Given the description of an element on the screen output the (x, y) to click on. 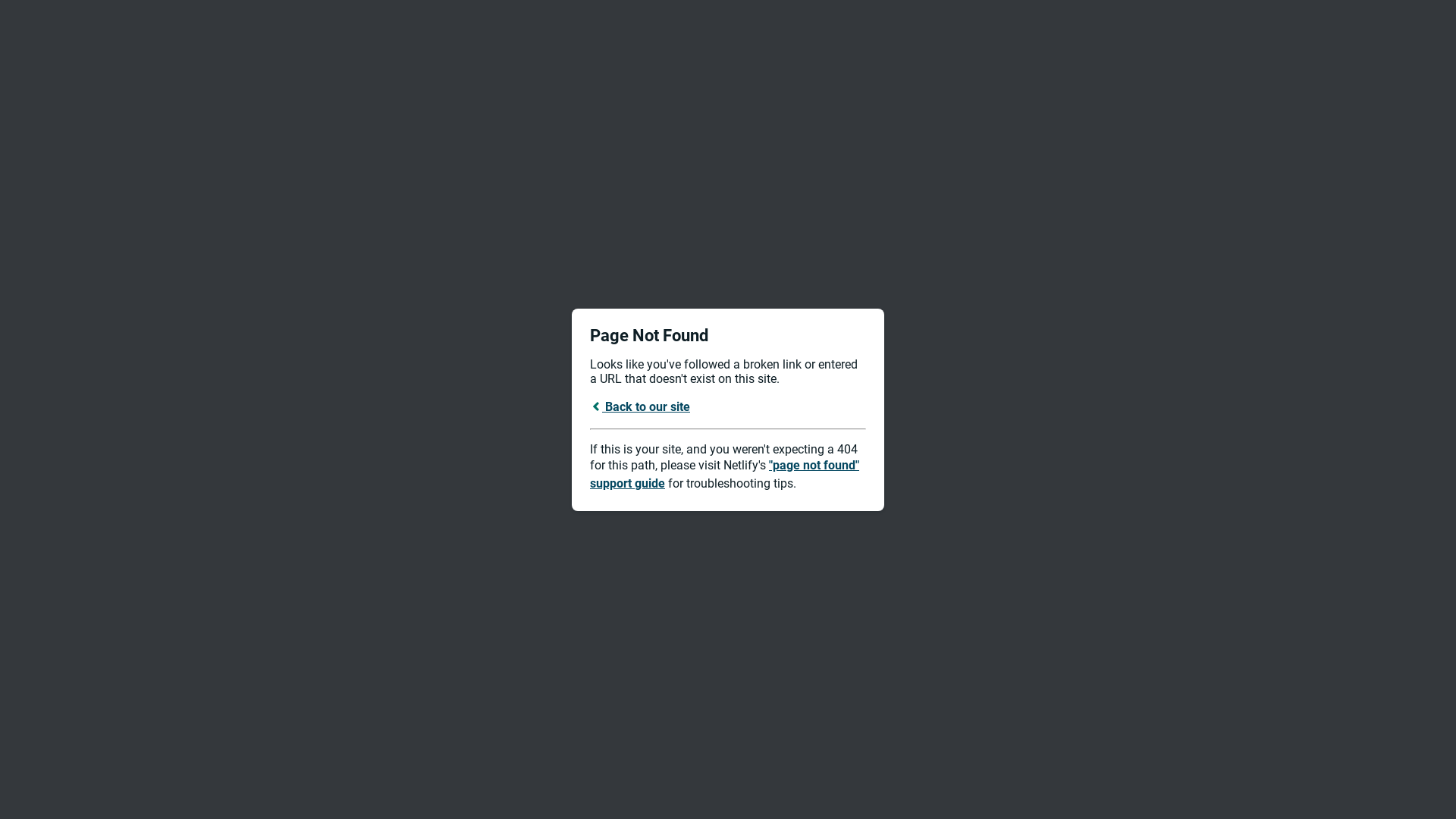
Back to our site Element type: text (639, 405)
"page not found" support guide Element type: text (724, 474)
